Given the description of an element on the screen output the (x, y) to click on. 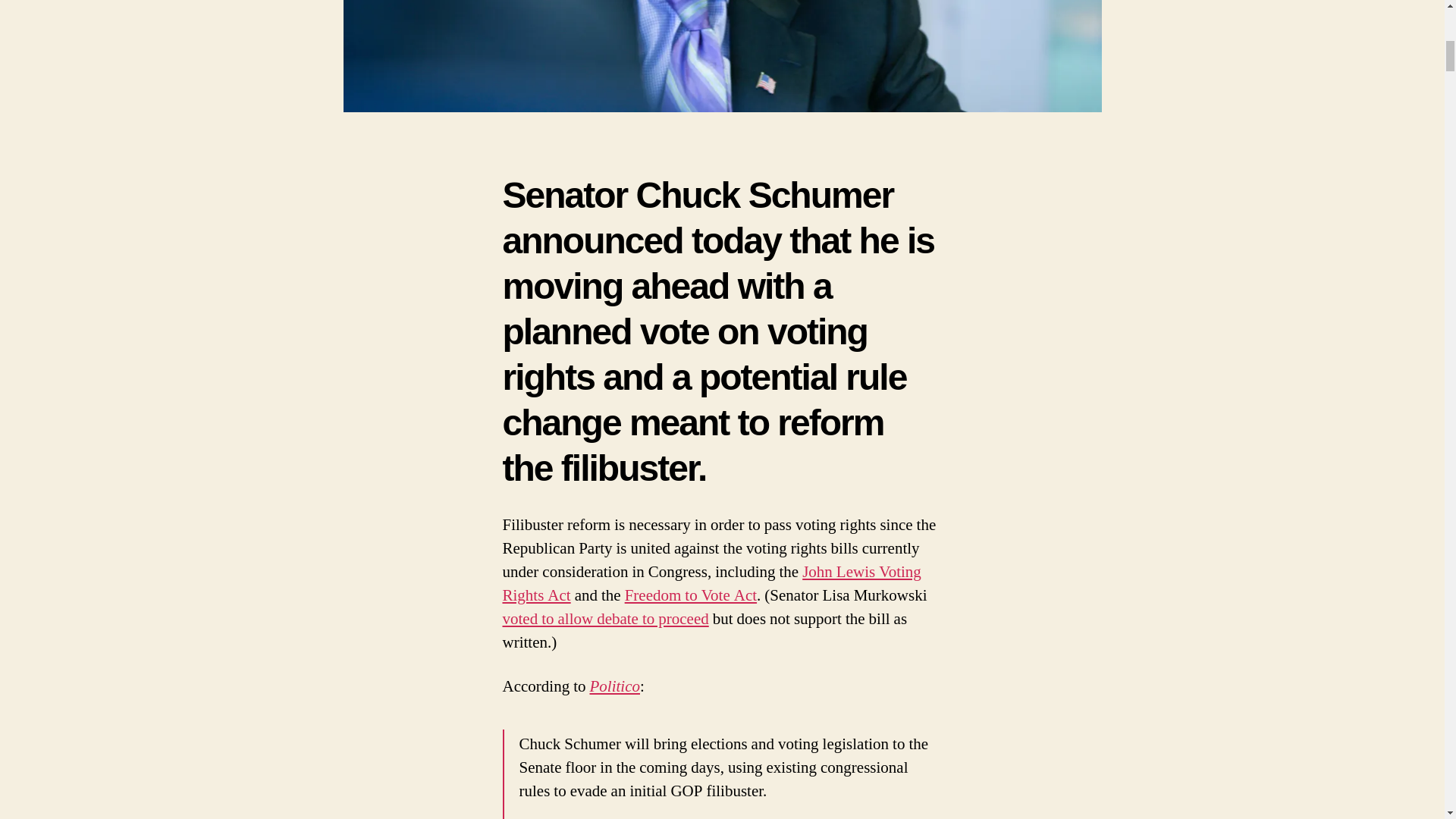
Freedom to Vote Act (690, 595)
voted to allow debate to proceed (604, 619)
John Lewis Voting Rights Act (711, 583)
Politico (614, 686)
